Given the description of an element on the screen output the (x, y) to click on. 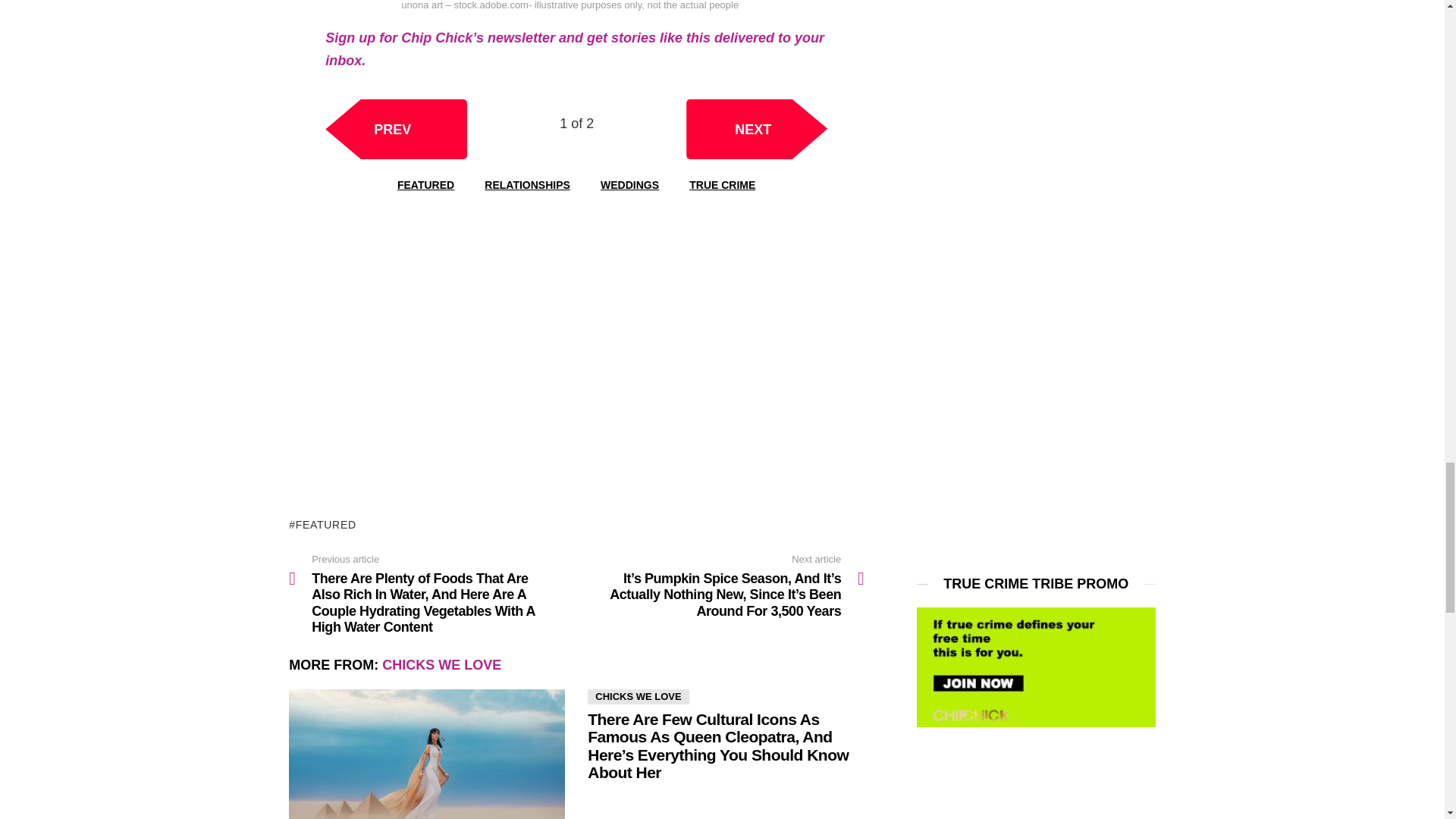
PREV (395, 128)
